Given the description of an element on the screen output the (x, y) to click on. 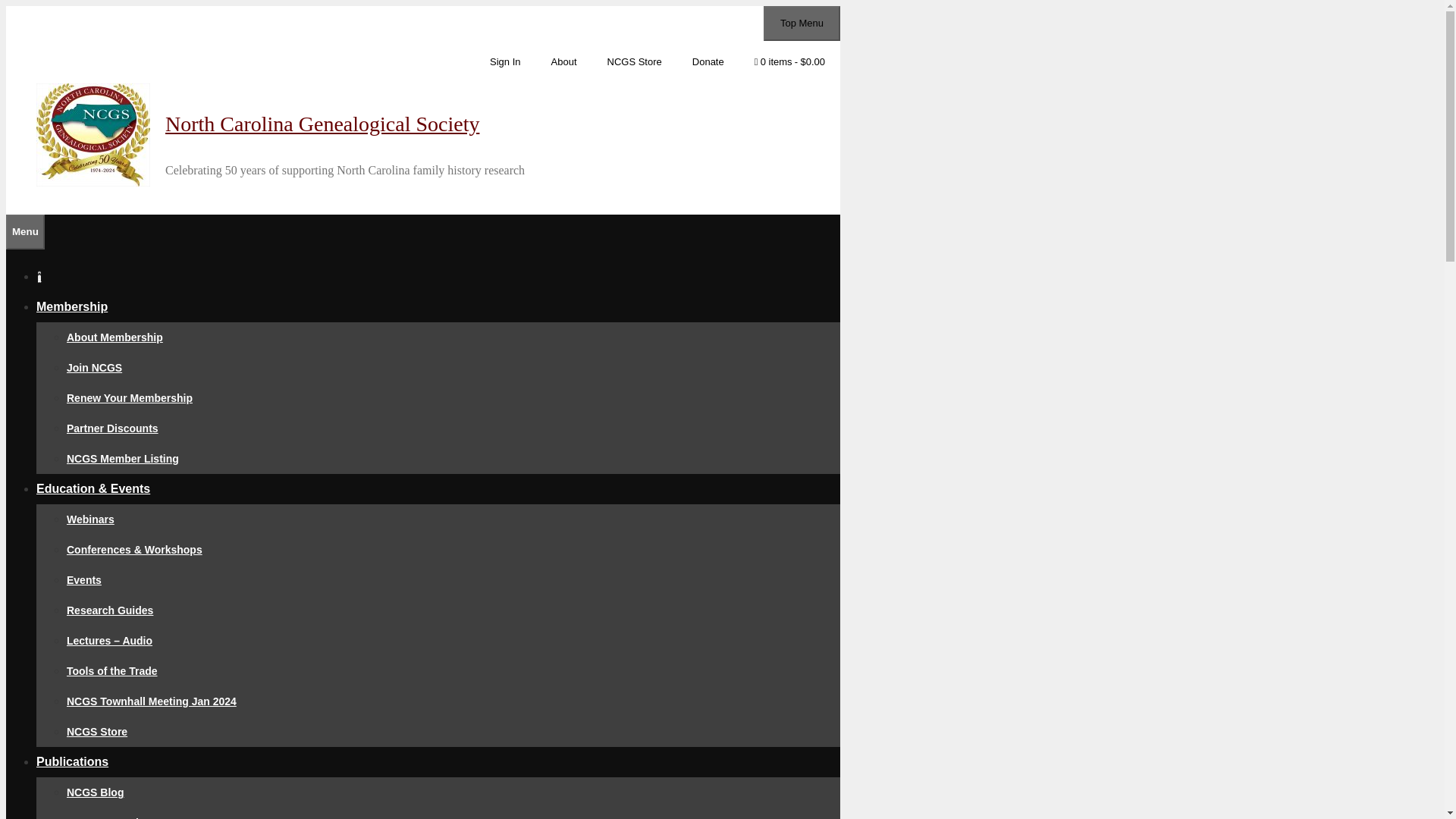
NCGS Blog (94, 792)
Membership (71, 306)
NCGS Journal (102, 817)
NCGS Townhall Meeting Jan 2024 (150, 701)
Research Guides (109, 610)
NCGS Store (97, 731)
Partner Discounts (112, 428)
About (563, 61)
North Carolina Genealogical Society (322, 123)
Menu (25, 231)
Tools of the Trade (111, 671)
Renew Your Membership (129, 398)
Start shopping (789, 59)
Events (83, 580)
